Given the description of an element on the screen output the (x, y) to click on. 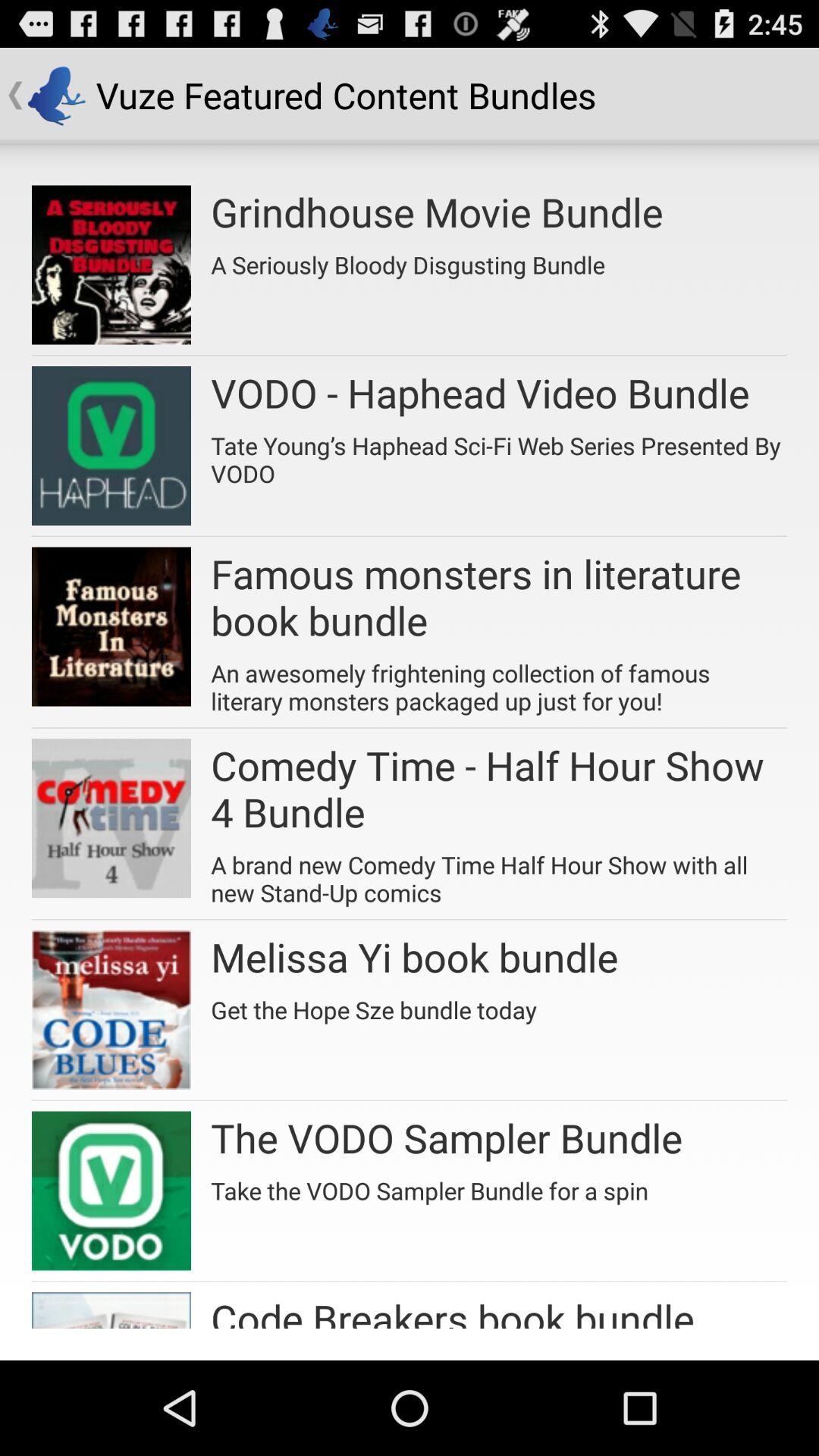
tap icon above famous monsters in item (499, 454)
